Given the description of an element on the screen output the (x, y) to click on. 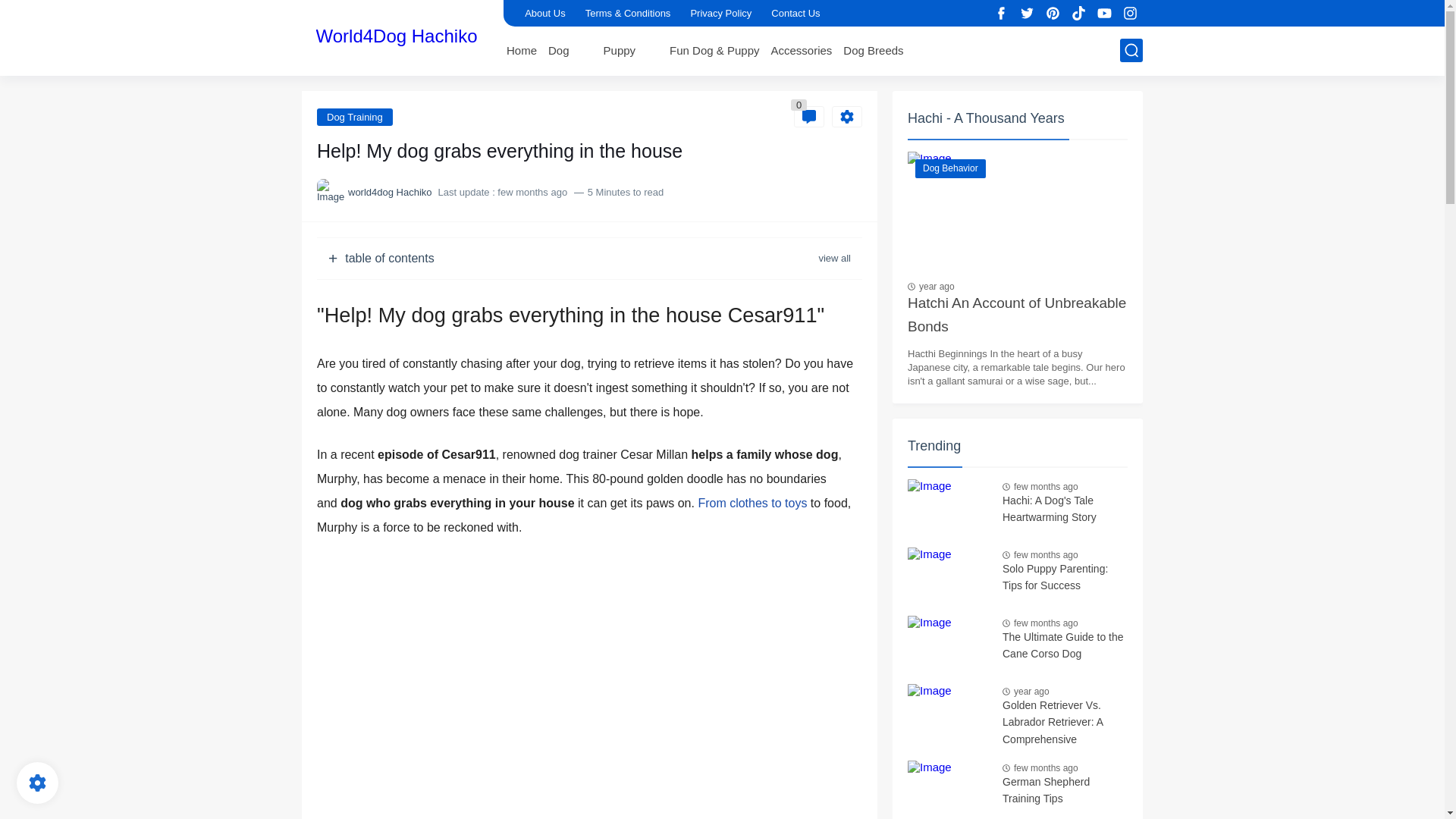
World4Dog Hachiko  (396, 35)
Accessories (800, 50)
youtube (1103, 13)
Puppy (620, 50)
About Us (544, 12)
Contact Us (795, 12)
Home (521, 50)
Dog (558, 50)
instagram (1129, 13)
Home (521, 50)
Dog (558, 50)
Dog Breeds (872, 50)
World4Dog Hachiko (396, 35)
Privacy Policy (720, 12)
Puppy (620, 50)
